Given the description of an element on the screen output the (x, y) to click on. 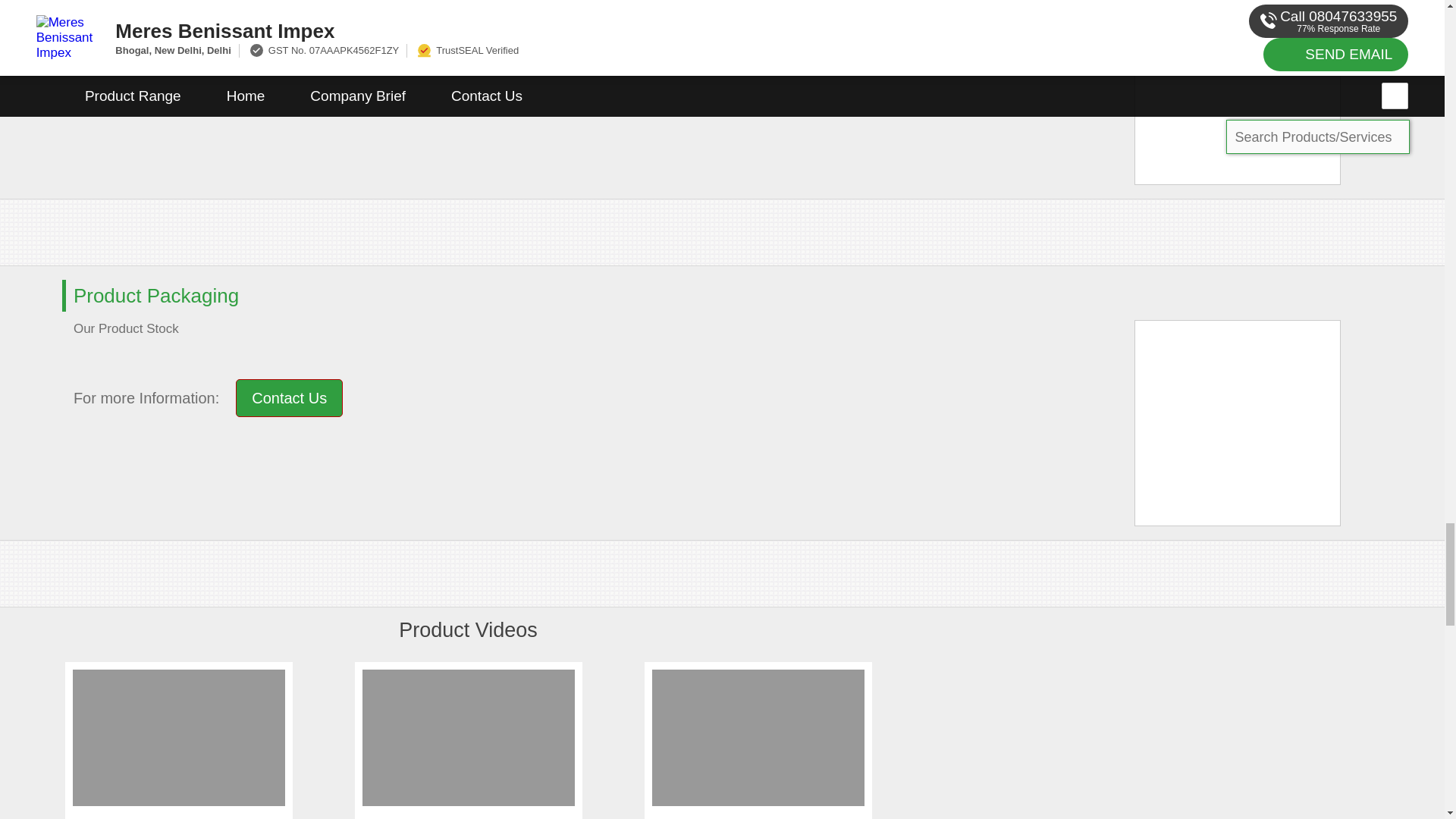
Kids Shirts (757, 817)
Kids Printed T Shirts (177, 817)
Kids Rompers Suit (467, 817)
